Given the description of an element on the screen output the (x, y) to click on. 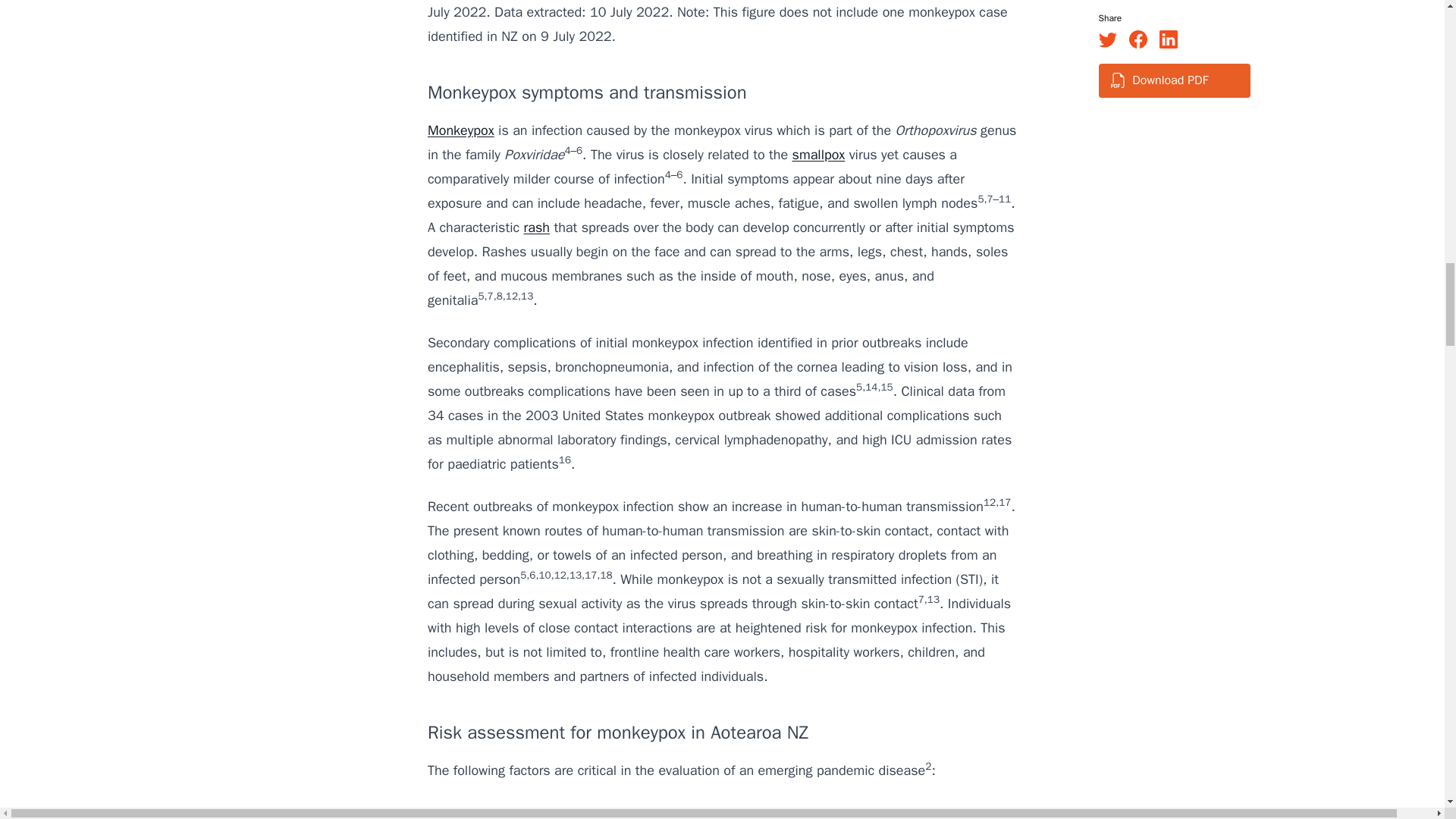
rash (536, 227)
smallpox (818, 154)
Monkeypox (461, 130)
